Given the description of an element on the screen output the (x, y) to click on. 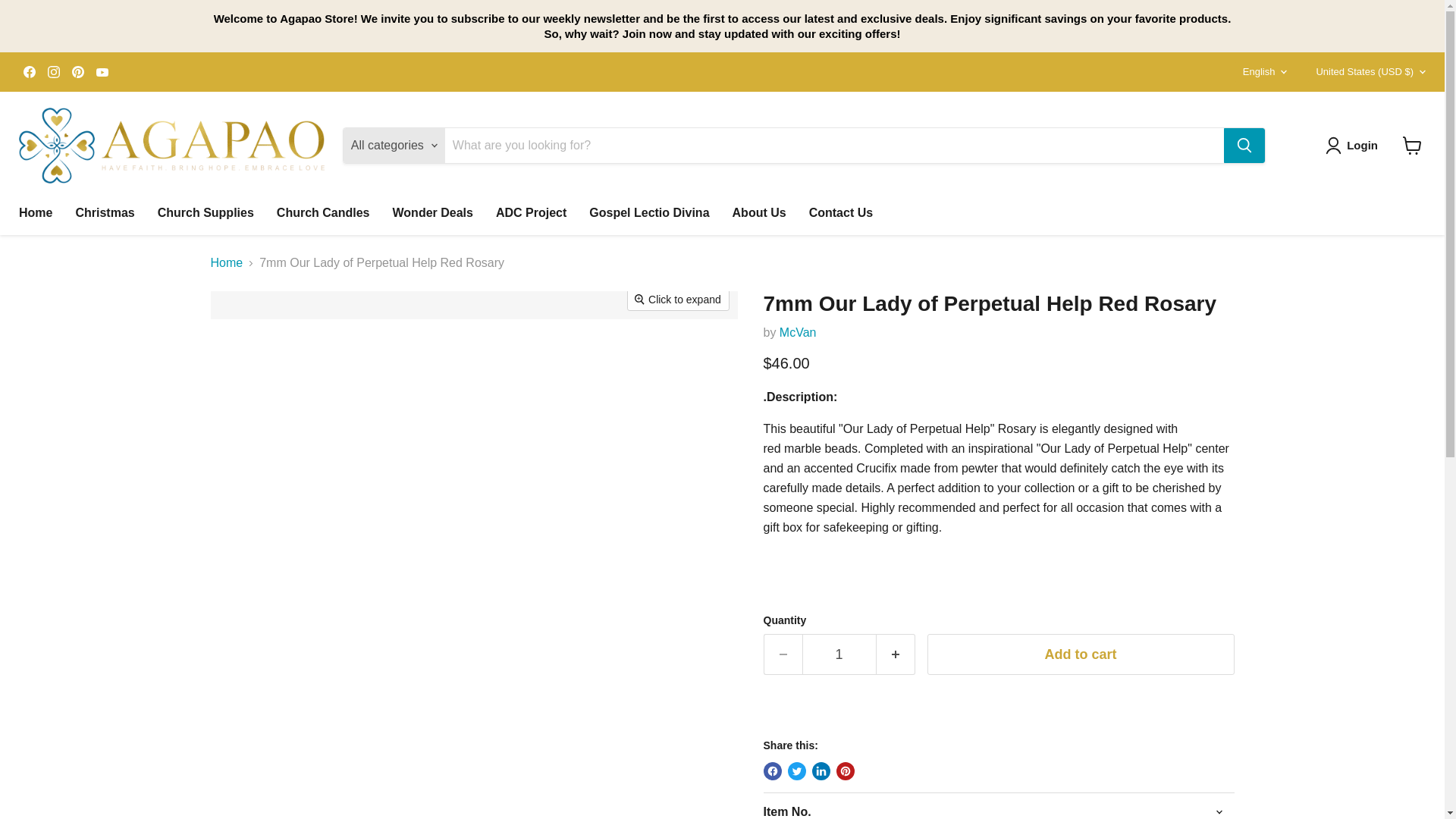
YouTube (102, 71)
Instagram (53, 71)
Find us on Pinterest (77, 71)
1 (839, 654)
Facebook (29, 71)
Find us on YouTube (102, 71)
Pinterest (77, 71)
Find us on Instagram (53, 71)
English (1260, 72)
Find us on Facebook (29, 71)
McVan (797, 332)
